Given the description of an element on the screen output the (x, y) to click on. 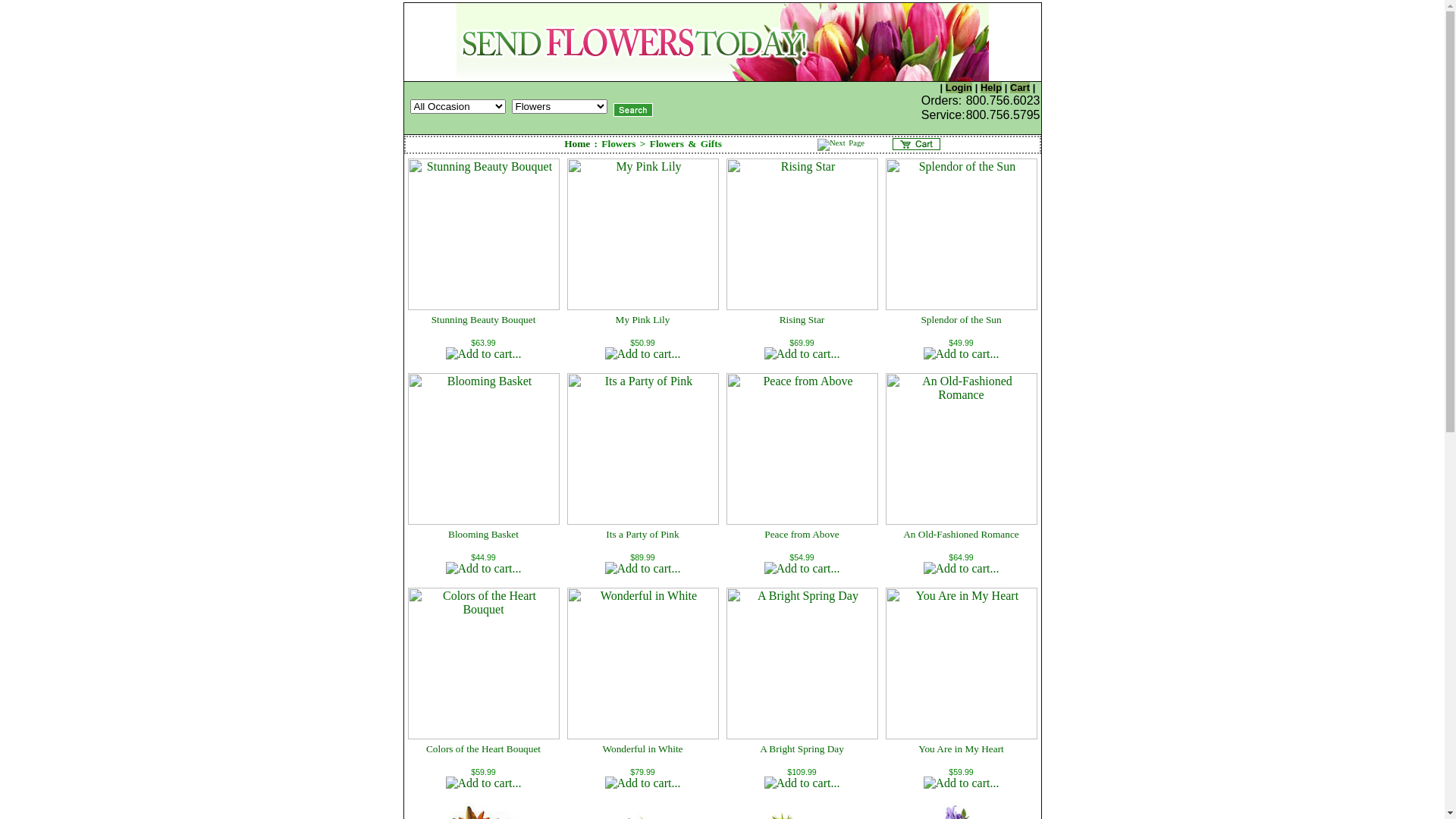
Help Element type: text (990, 87)
Blooming Basket Element type: text (483, 533)
Login Element type: text (958, 87)
Cart Element type: text (1019, 87)
An Old-Fashioned Romance Element type: text (961, 533)
Peace from Above Element type: text (801, 533)
Splendor of the Sun Element type: text (960, 319)
Its a Party of Pink Element type: text (641, 533)
Home Element type: text (576, 143)
Wonderful in White Element type: text (642, 748)
A Bright Spring Day Element type: text (801, 748)
Rising Star Element type: text (802, 319)
Colors of the Heart Bouquet Element type: text (483, 748)
My Pink Lily Element type: text (642, 319)
Stunning Beauty Bouquet Element type: text (483, 319)
You Are in My Heart Element type: text (961, 748)
